Given the description of an element on the screen output the (x, y) to click on. 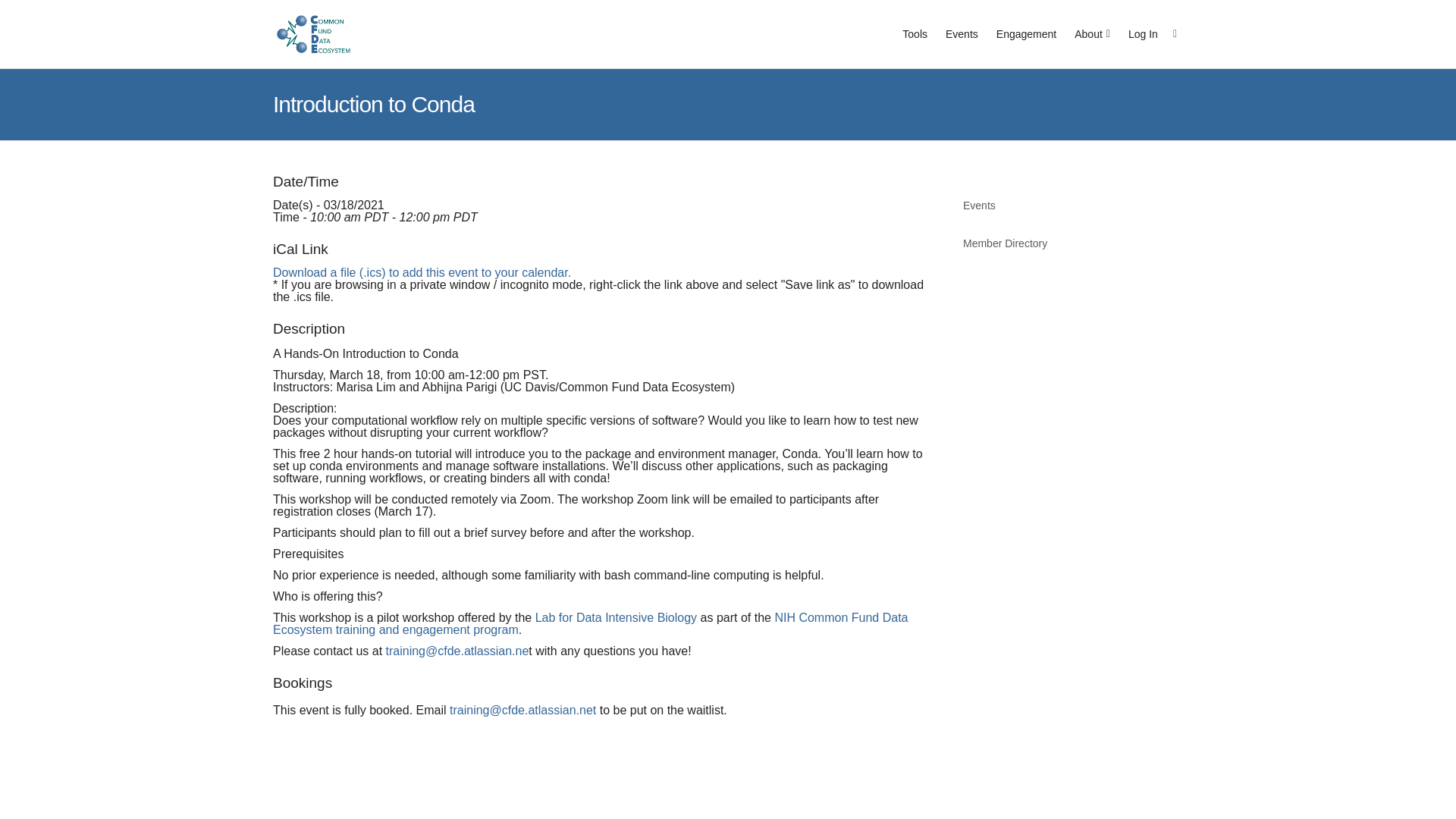
Engagement (1026, 33)
Member Directory (1072, 242)
Common Fund Data Ecosystem (313, 34)
training and engagement program (427, 629)
Events (1072, 205)
NIH Common Fund Data Ecosystem (590, 623)
Lab for Data Intensive Biology (616, 617)
